Given the description of an element on the screen output the (x, y) to click on. 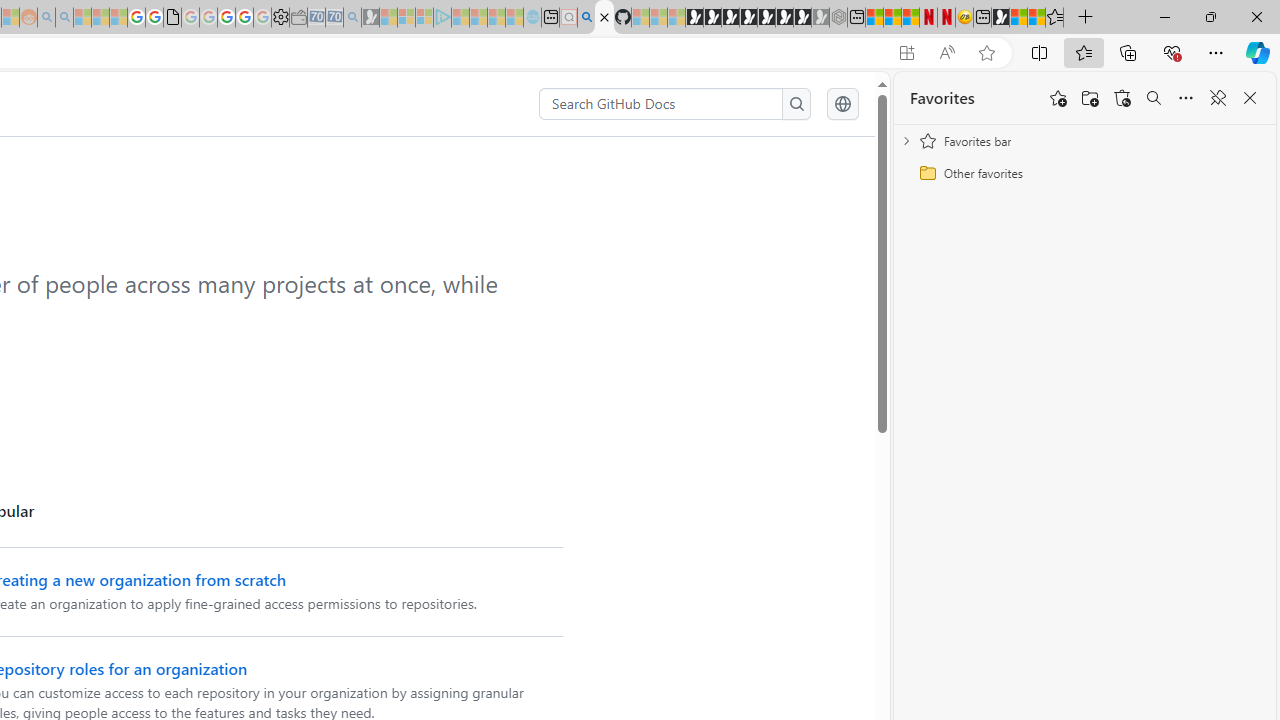
Restore deleted favorites (1122, 98)
Search favorites (1153, 98)
